Given the description of an element on the screen output the (x, y) to click on. 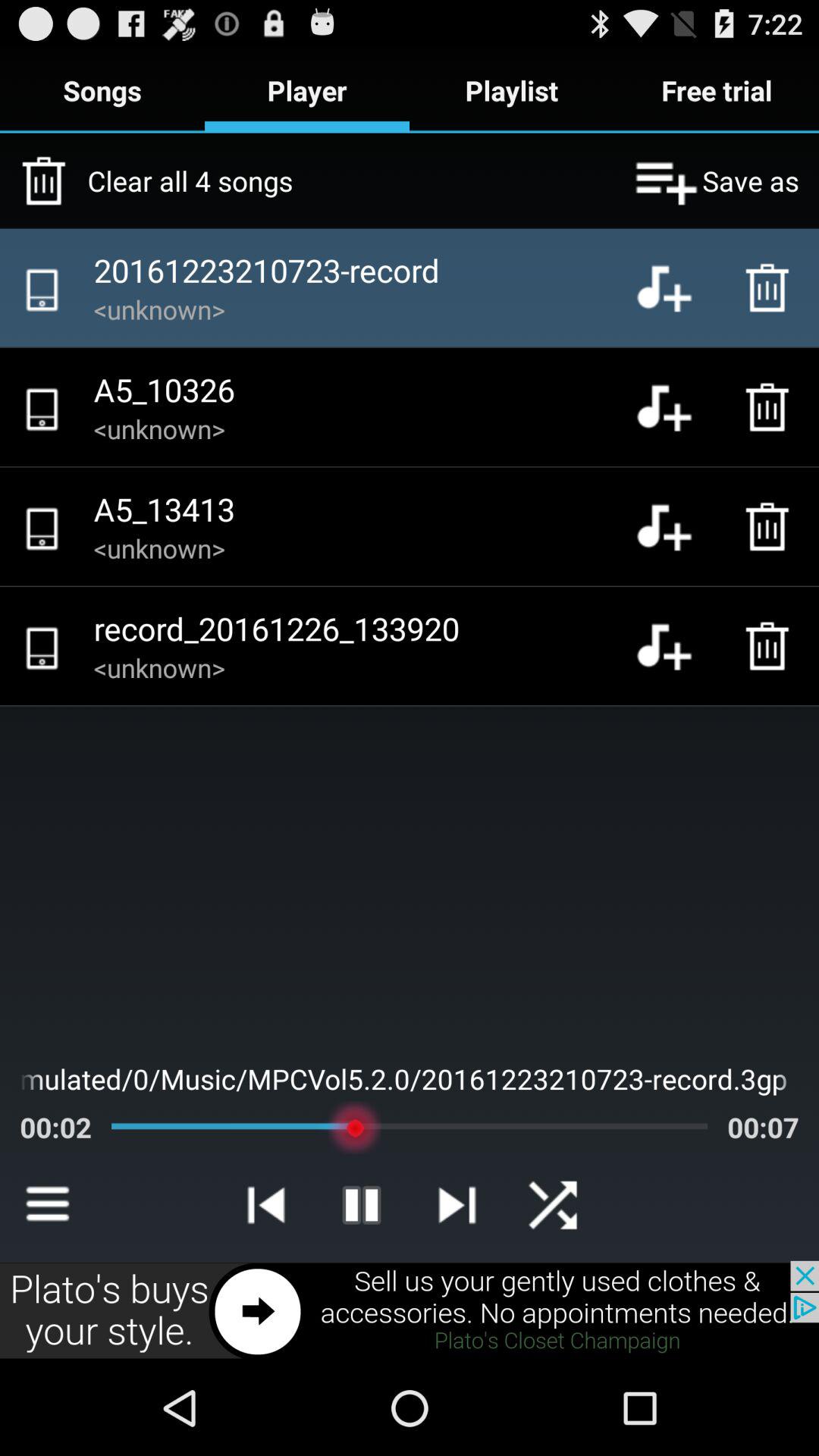
audio (675, 526)
